Given the description of an element on the screen output the (x, y) to click on. 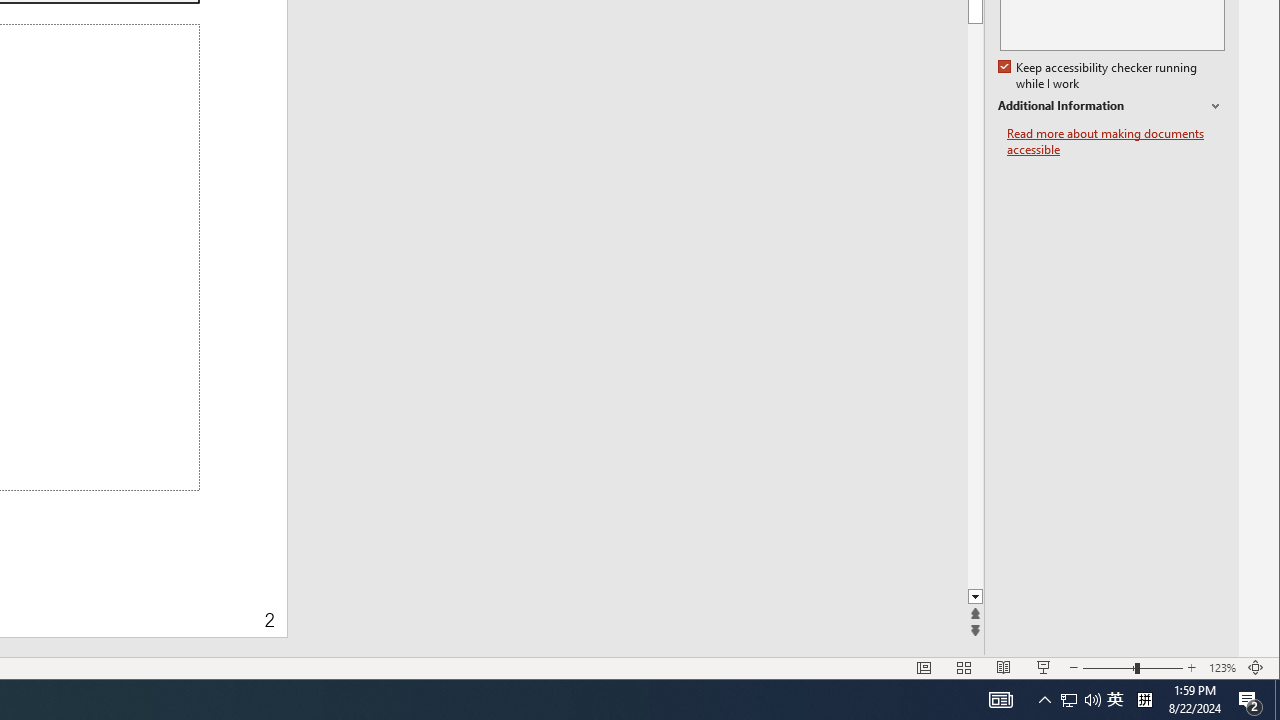
Zoom 123% (1222, 668)
Read more about making documents accessible (1115, 142)
Additional Information (1111, 106)
Keep accessibility checker running while I work (1099, 76)
